Given the description of an element on the screen output the (x, y) to click on. 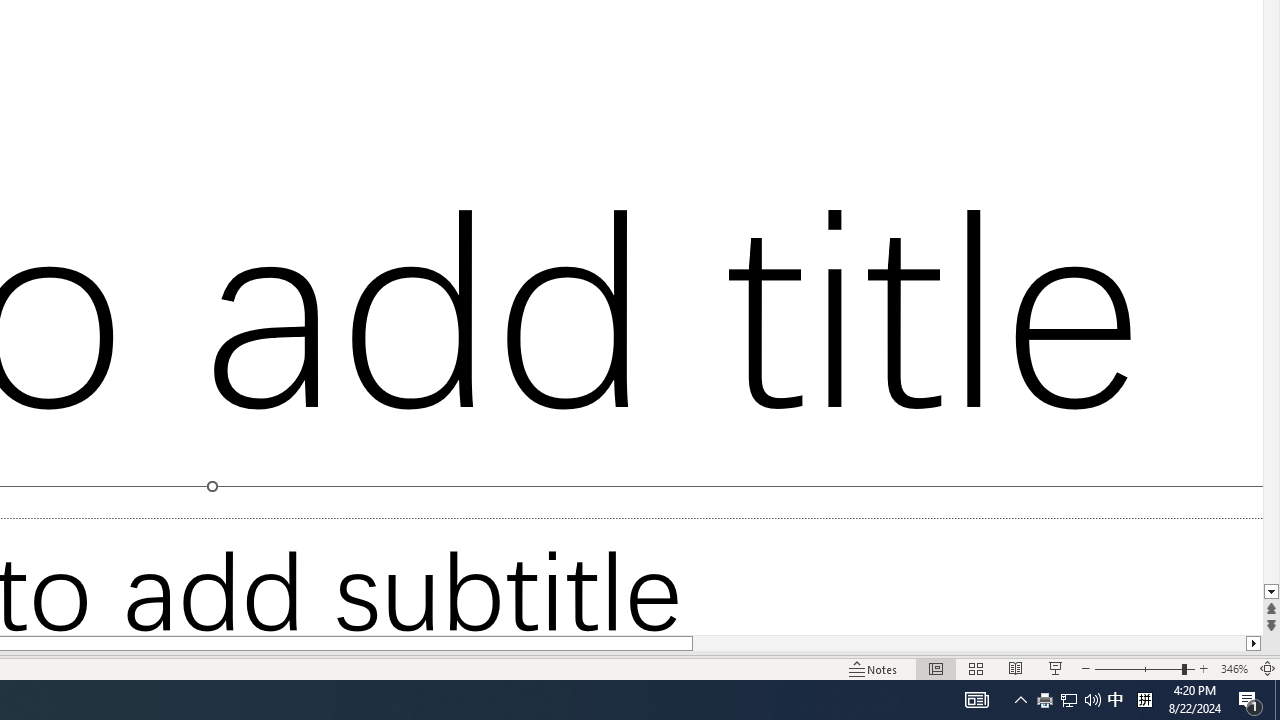
Zoom 346% (1234, 668)
